Given the description of an element on the screen output the (x, y) to click on. 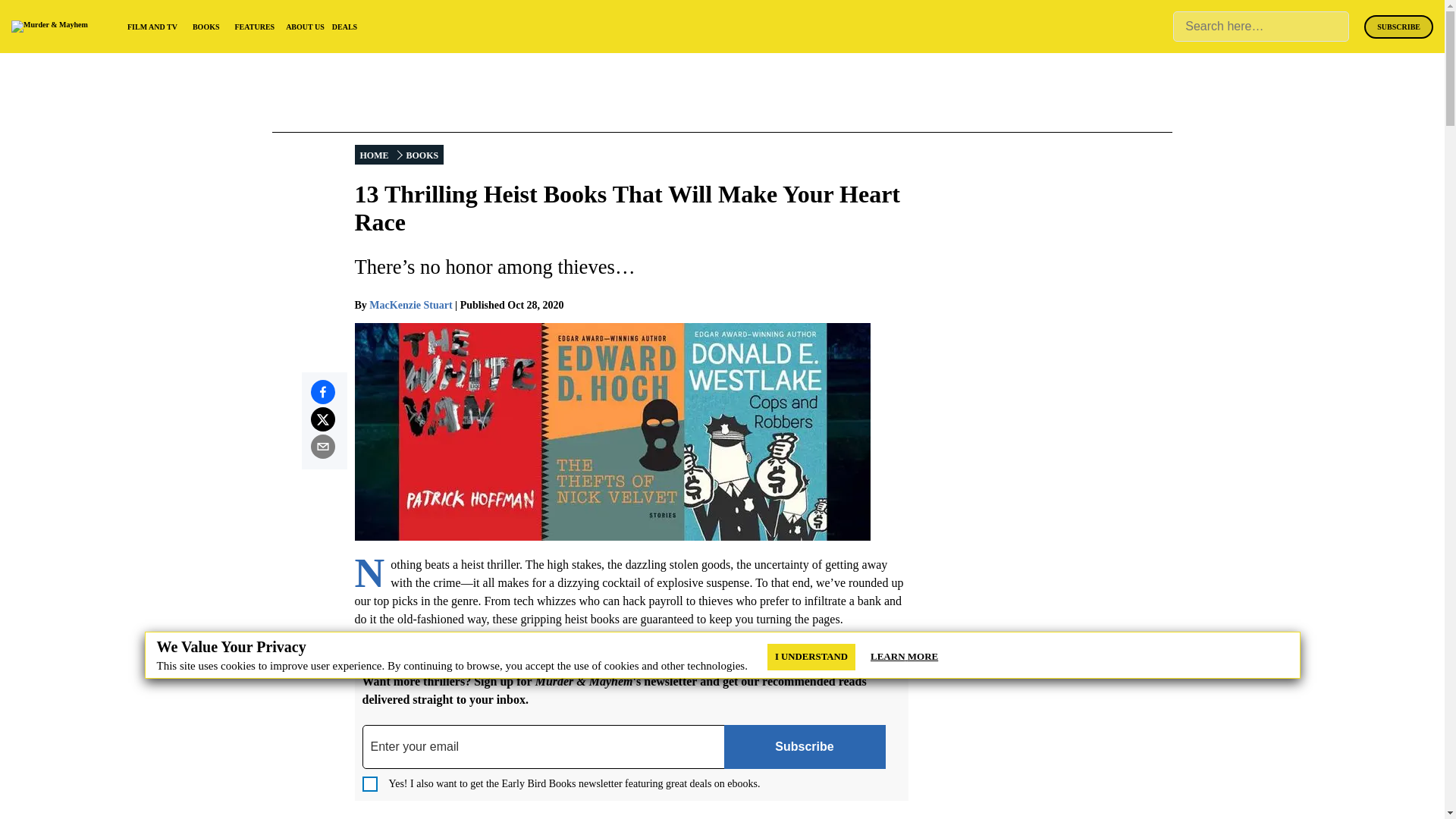
Subscribe (804, 746)
HOME (374, 154)
BOOKS (422, 154)
LEARN MORE (903, 656)
MacKenzie Stuart (410, 305)
FILM AND TV (152, 26)
BOOKS (205, 26)
FEATURES (254, 26)
DEALS (343, 26)
